Given the description of an element on the screen output the (x, y) to click on. 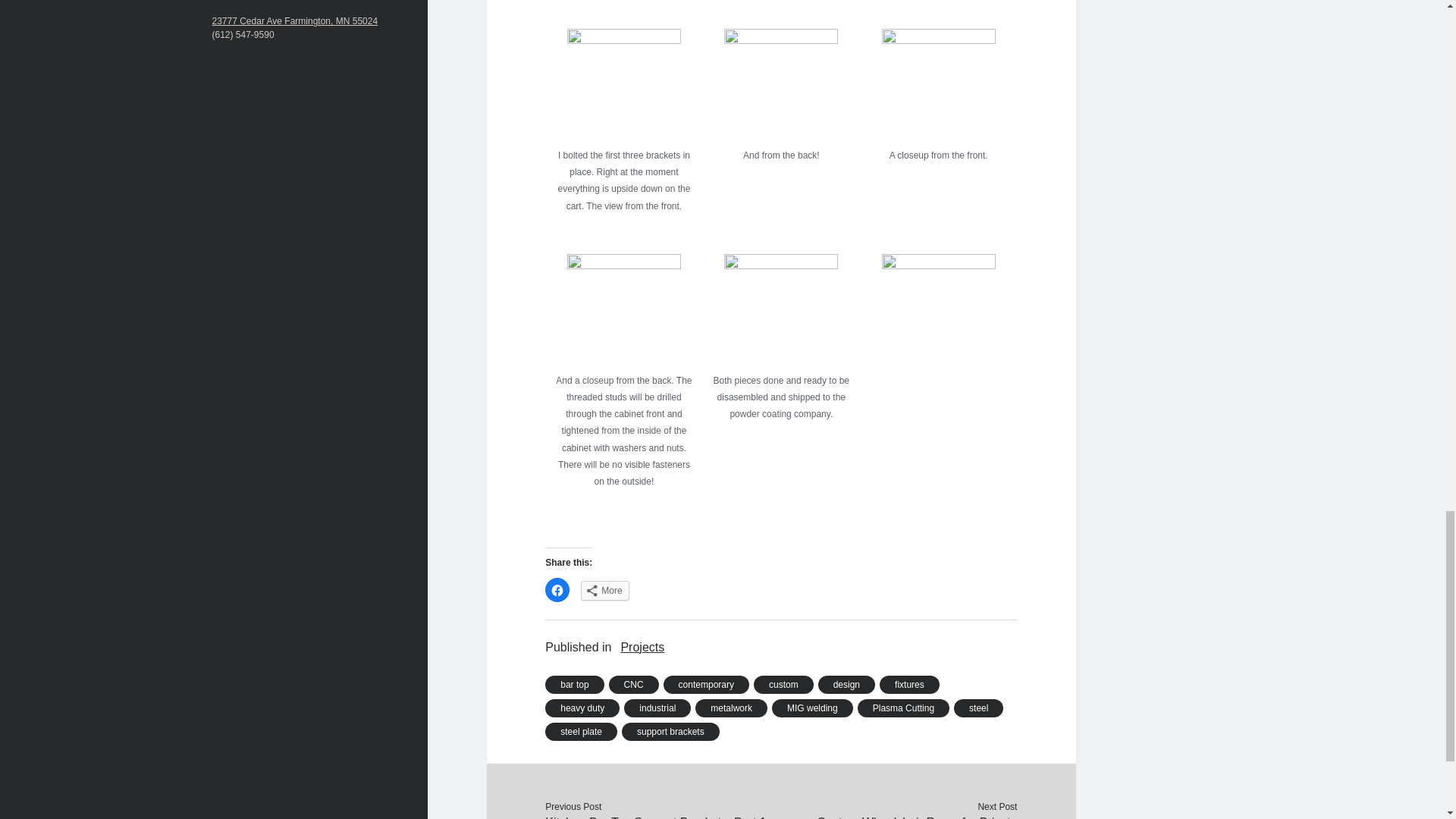
Google Map Embed (309, 5)
View all posts tagged industrial (657, 708)
View all posts tagged CNC (633, 684)
View all posts tagged heavy duty (582, 708)
View all posts tagged design (846, 684)
View all posts tagged fixtures (909, 684)
View all posts tagged contemporary (706, 684)
View all posts tagged metalwork (731, 708)
View all posts tagged bar top (574, 684)
Click to share on Facebook (556, 589)
View all posts in Projects (641, 647)
View all posts tagged custom (783, 684)
